Given the description of an element on the screen output the (x, y) to click on. 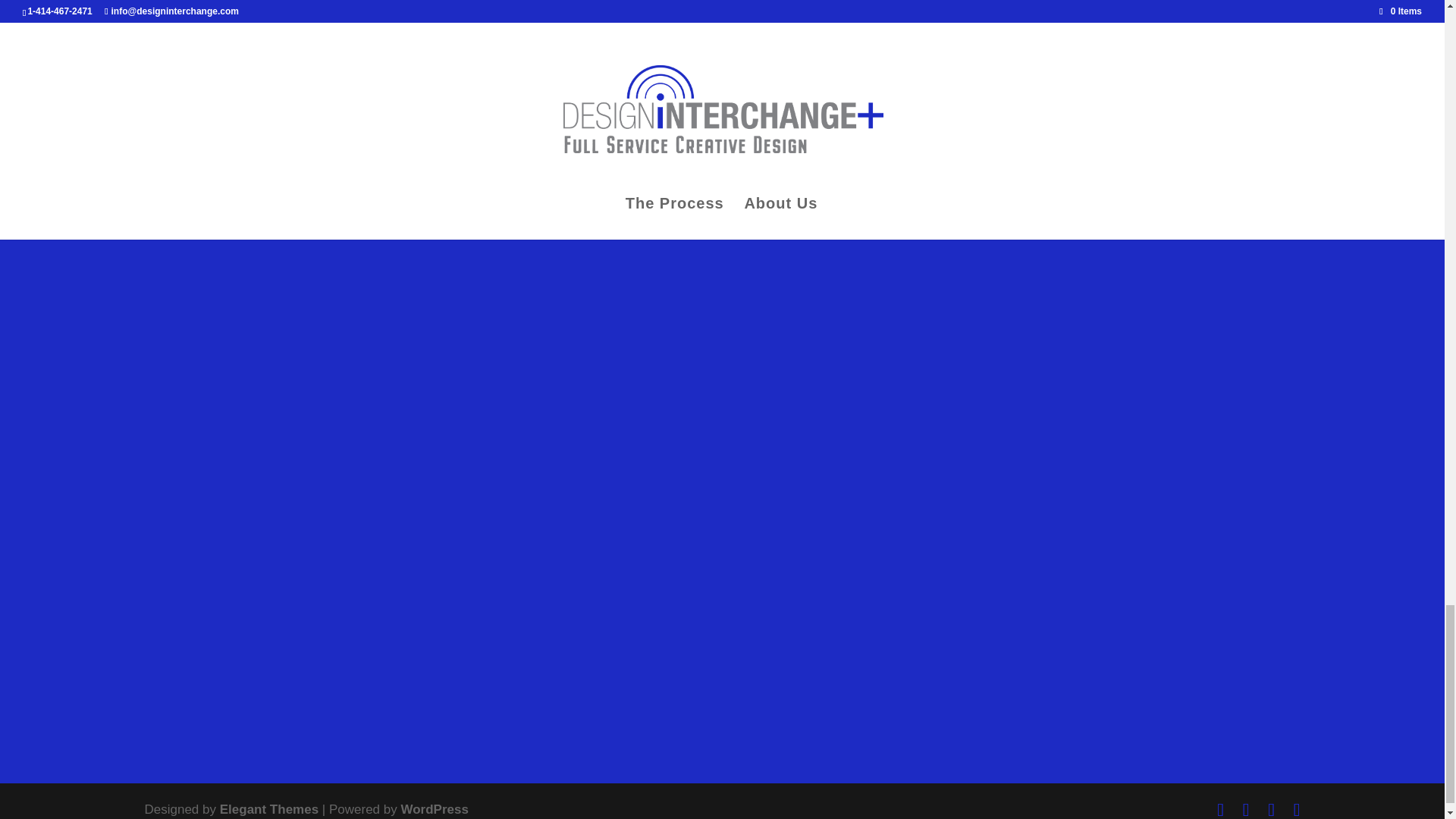
WordPress (433, 809)
Premium WordPress Themes (268, 809)
Elegant Themes (268, 809)
